Given the description of an element on the screen output the (x, y) to click on. 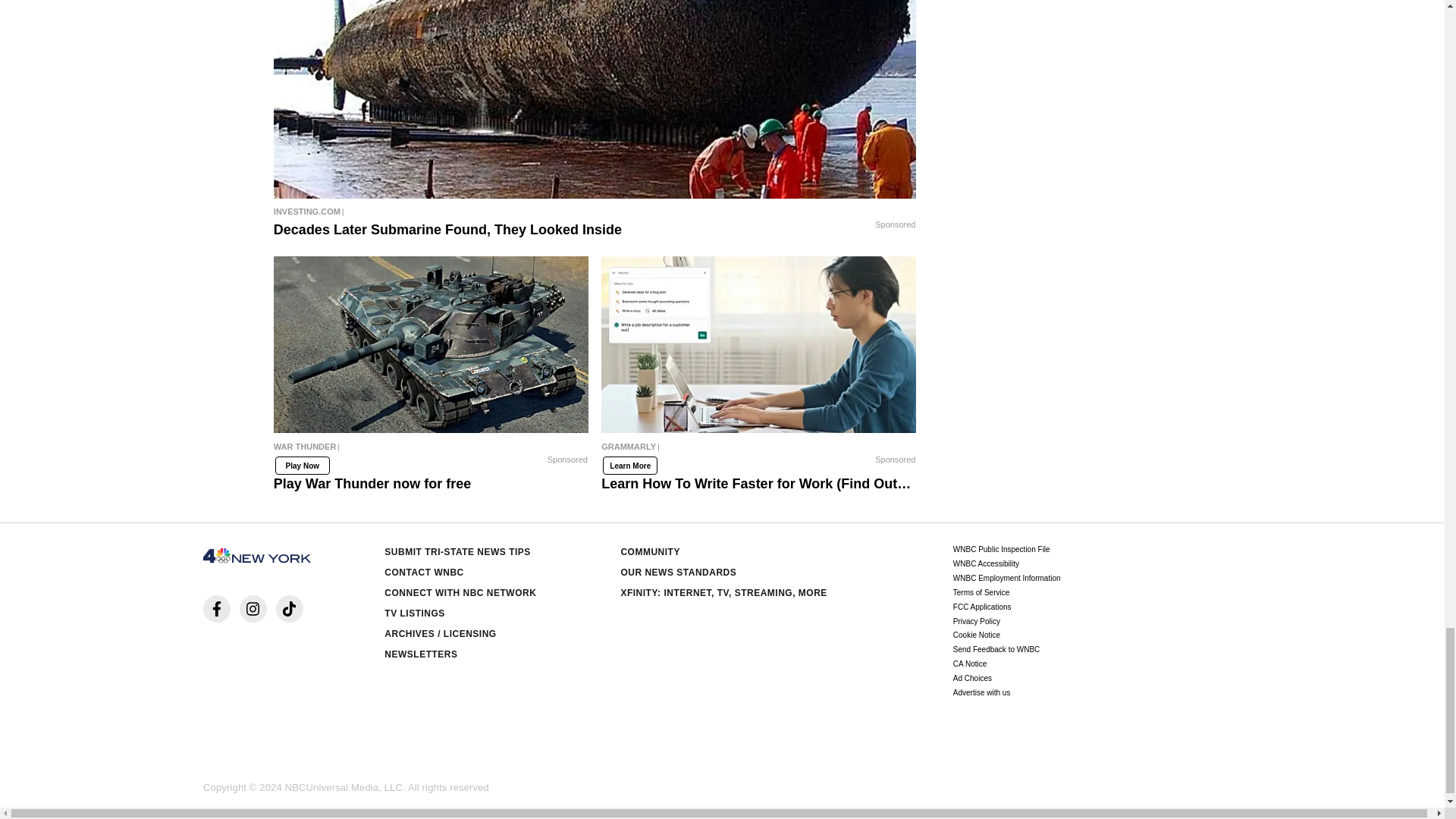
Decades Later Submarine Found, They Looked Inside (595, 211)
Play War Thunder now for free (430, 450)
Play War Thunder now for free (430, 345)
Decades Later Submarine Found, They Looked Inside (595, 99)
